Given the description of an element on the screen output the (x, y) to click on. 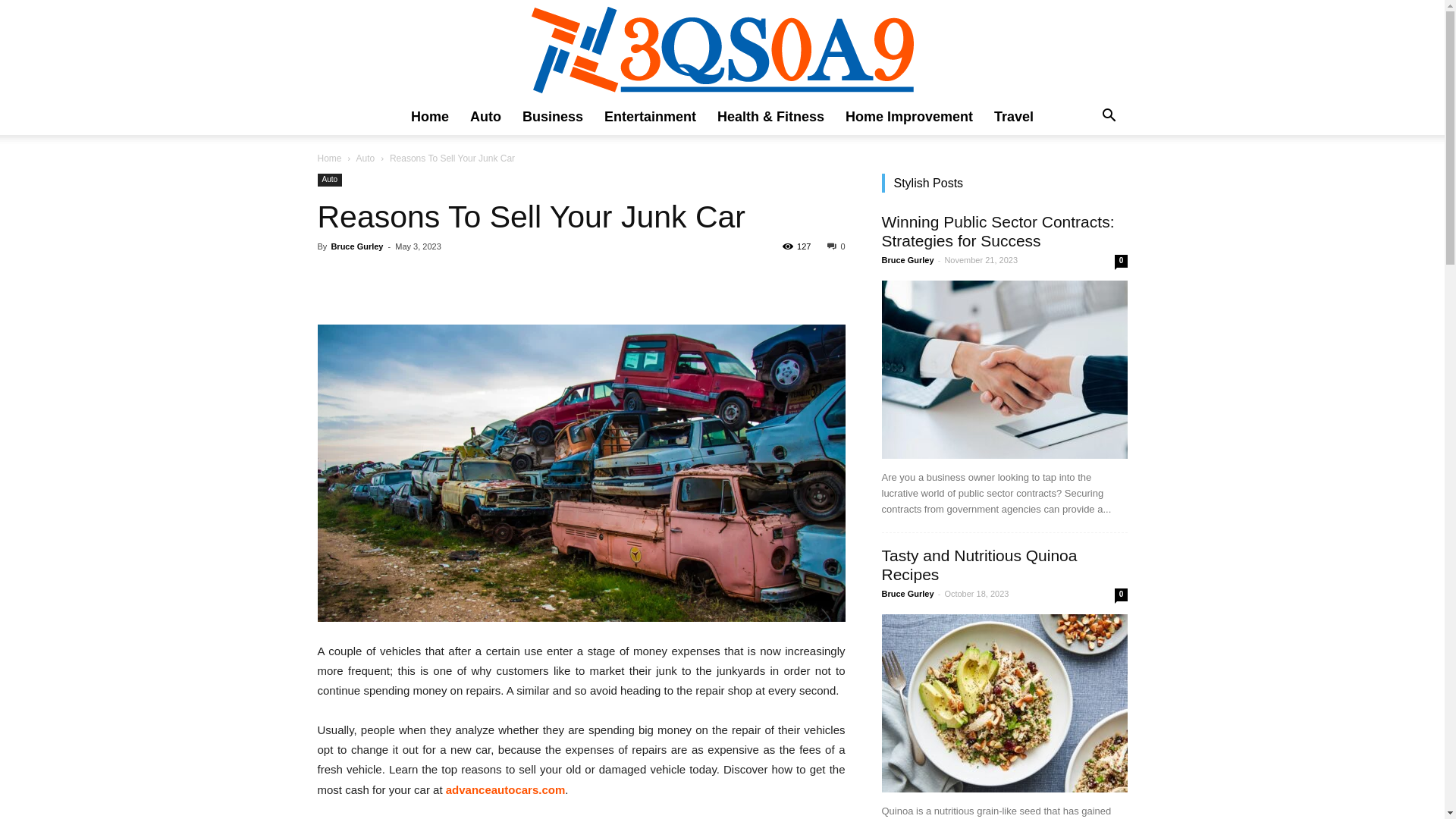
Winning Public Sector Contracts: Strategies for Success Element type: text (997, 231)
Bruce Gurley Element type: text (907, 259)
Home Improvement Element type: text (908, 116)
Bruce Gurley Element type: text (356, 246)
Entertainment Element type: text (649, 116)
Tasty and Nutritious Quinoa Recipes Element type: hover (1003, 703)
0 Element type: text (1120, 594)
Health & Fitness Element type: text (770, 116)
Tasty and Nutritious Quinoa Recipes Element type: text (978, 564)
0 Element type: text (835, 246)
Auto Element type: text (365, 158)
Home Element type: text (429, 116)
Business Element type: text (552, 116)
advanceautocars.com Element type: text (505, 789)
Home Element type: text (328, 158)
Bruce Gurley Element type: text (907, 593)
Travel Element type: text (1013, 116)
Winning Public Sector Contracts: Strategies for Success Element type: hover (1003, 369)
Search Element type: text (1084, 177)
Auto Element type: text (485, 116)
Auto Element type: text (329, 179)
0 Element type: text (1120, 260)
Junk Car Element type: hover (580, 472)
